Given the description of an element on the screen output the (x, y) to click on. 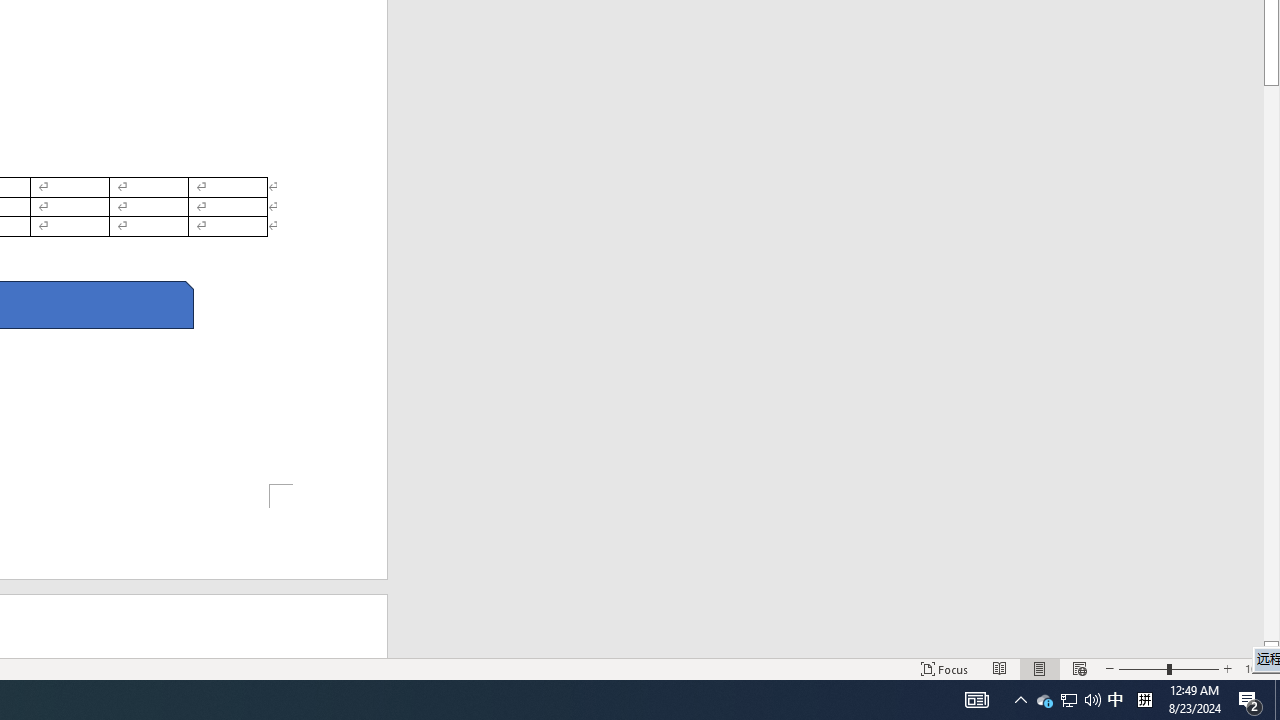
Line down (1271, 649)
Zoom 100% (1258, 668)
Zoom (1168, 668)
Page down (1271, 362)
